Given the description of an element on the screen output the (x, y) to click on. 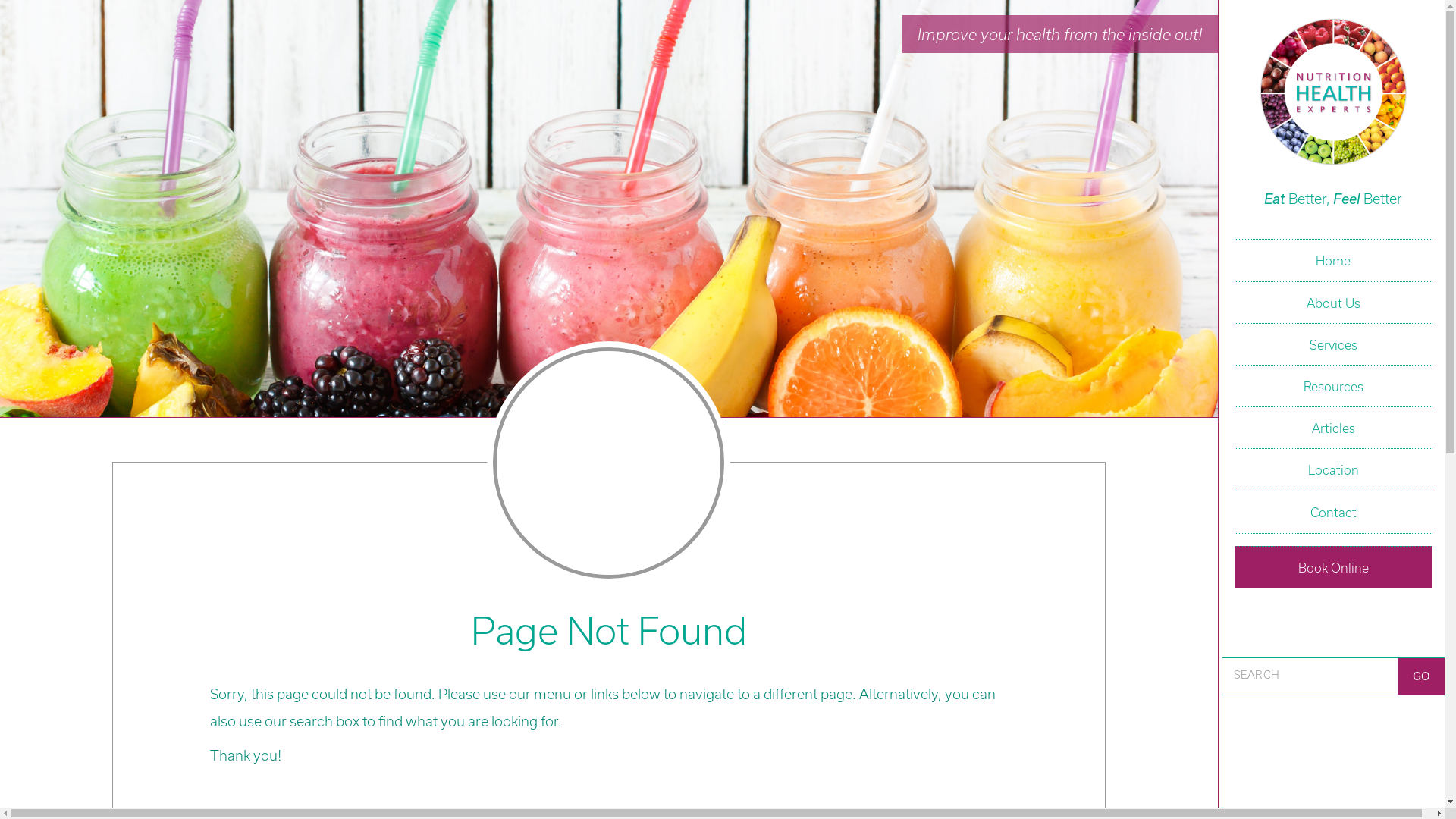
Home Element type: text (1333, 260)
GO Element type: text (1420, 676)
Improve your health from the inside out! Element type: text (1059, 34)
Resources Element type: text (1333, 386)
Services Element type: text (1333, 344)
Book Online Element type: text (1333, 567)
Contact Element type: text (1333, 512)
Location Element type: text (1333, 469)
Articles Element type: text (1333, 427)
About Us Element type: text (1333, 302)
Nutrition Health Experts Home Element type: hover (1333, 94)
